Given the description of an element on the screen output the (x, y) to click on. 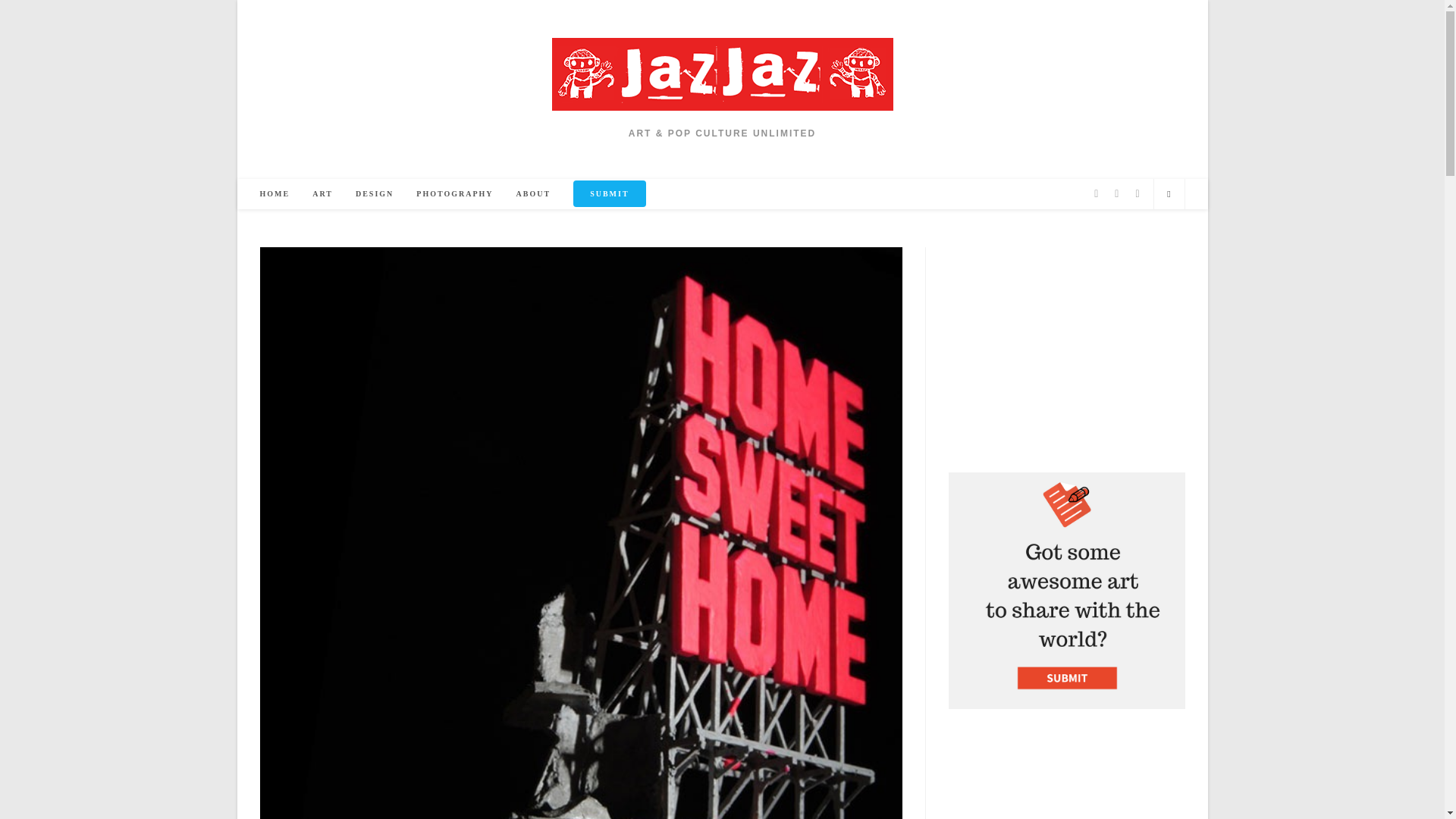
DESIGN (373, 194)
HOME (274, 194)
ABOUT (533, 194)
PHOTOGRAPHY (453, 194)
ART (322, 194)
SUBMIT (609, 194)
